Given the description of an element on the screen output the (x, y) to click on. 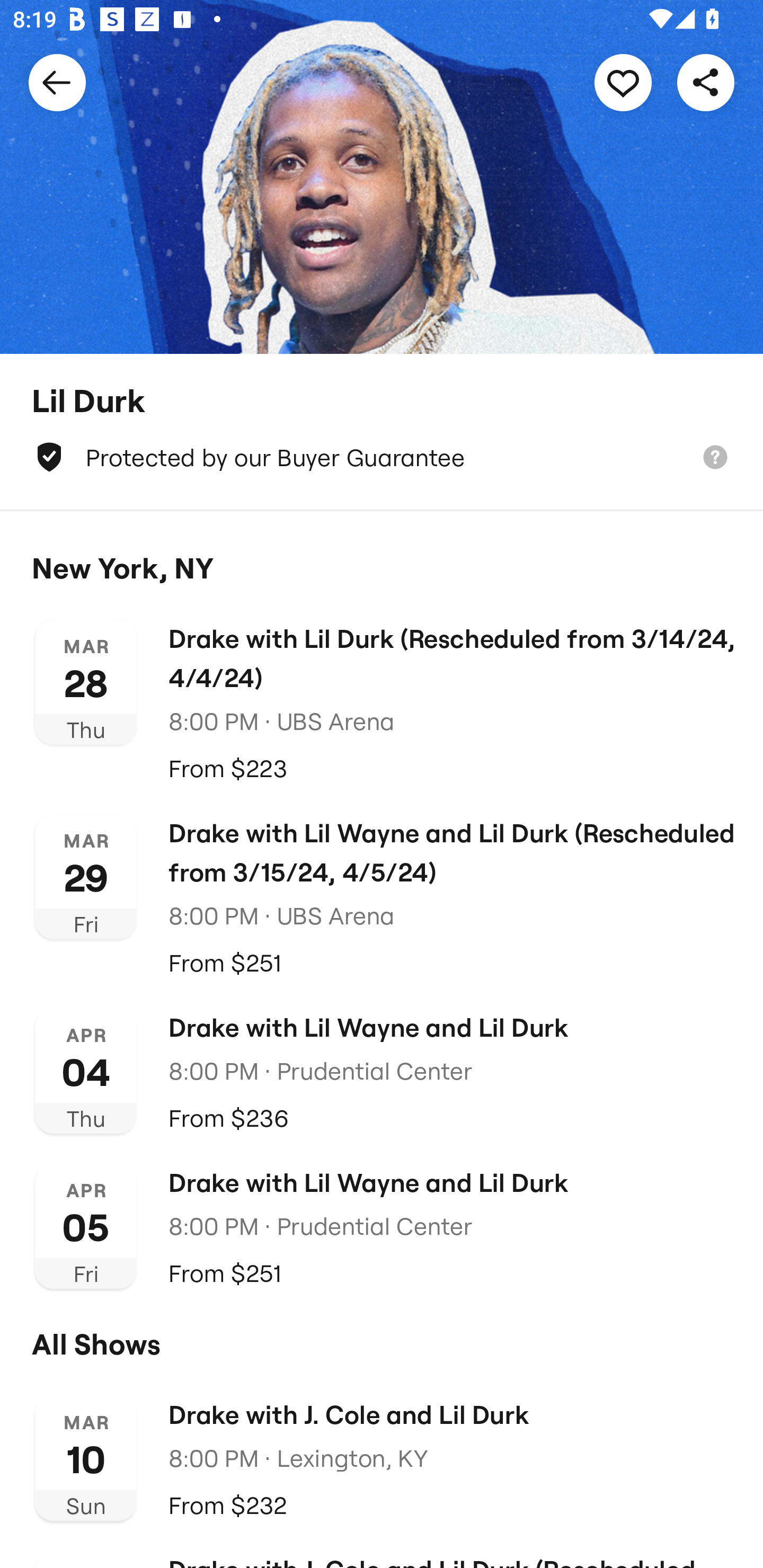
Back (57, 81)
Track this performer (623, 81)
Share this performer (705, 81)
Protected by our Buyer Guarantee Learn more (381, 456)
